Given the description of an element on the screen output the (x, y) to click on. 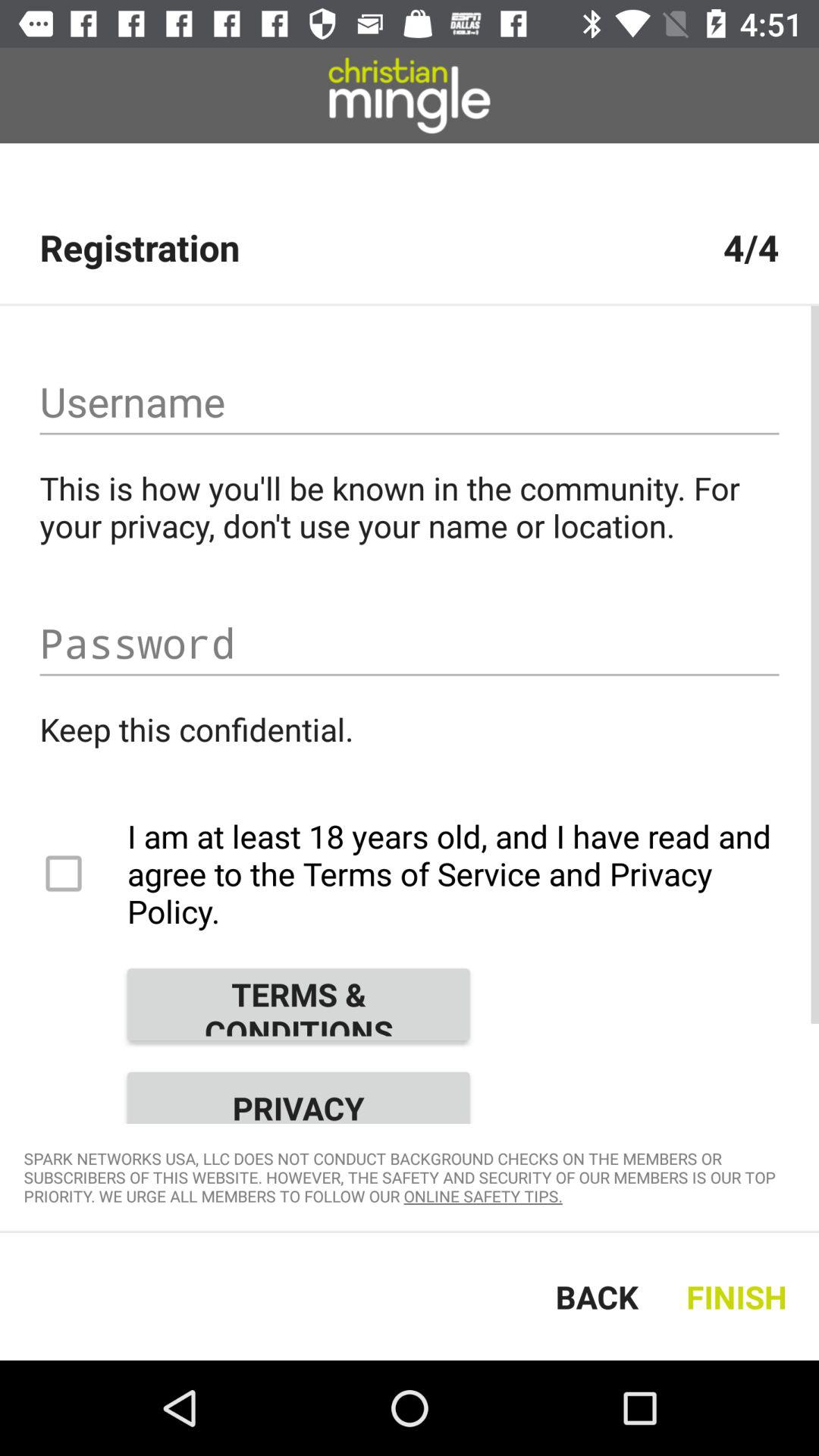
turn off item to the left of the finish (596, 1296)
